Given the description of an element on the screen output the (x, y) to click on. 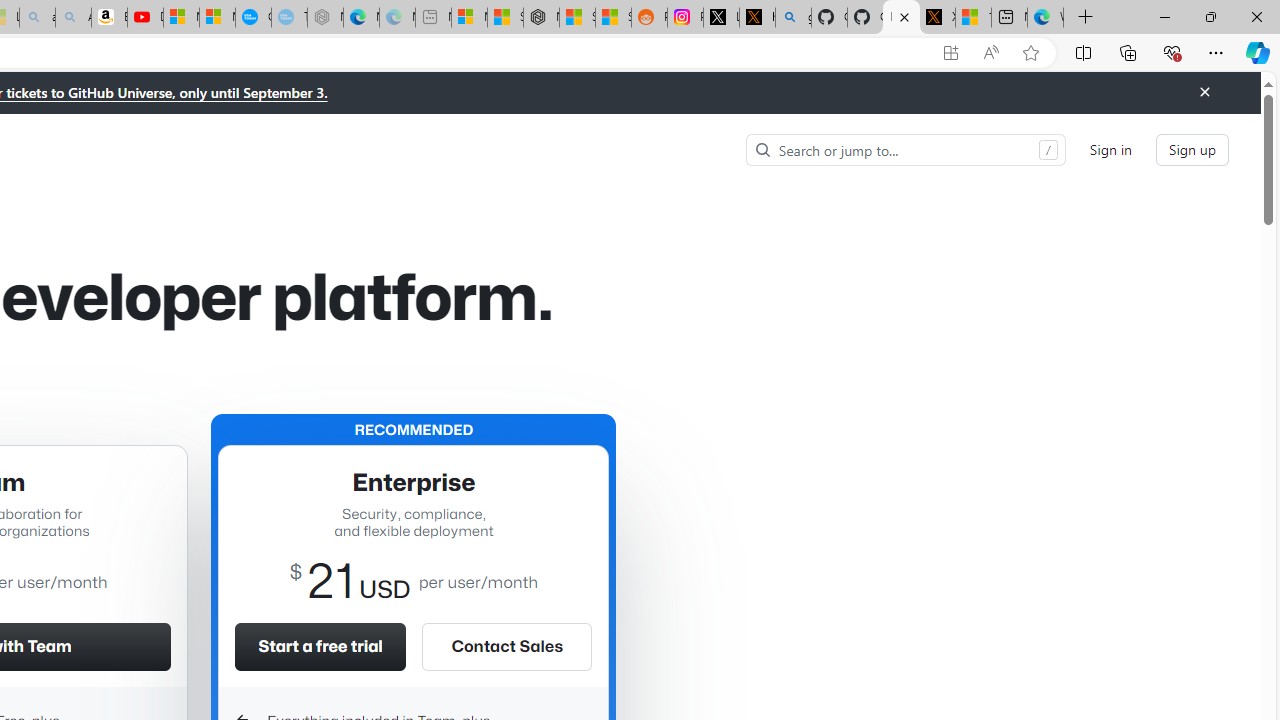
Shanghai, China Weather trends | Microsoft Weather (613, 17)
amazon - Search - Sleeping (37, 17)
help.x.com | 524: A timeout occurred (756, 17)
App available. Install GitHub (950, 53)
Welcome to Microsoft Edge (1045, 17)
